Given the description of an element on the screen output the (x, y) to click on. 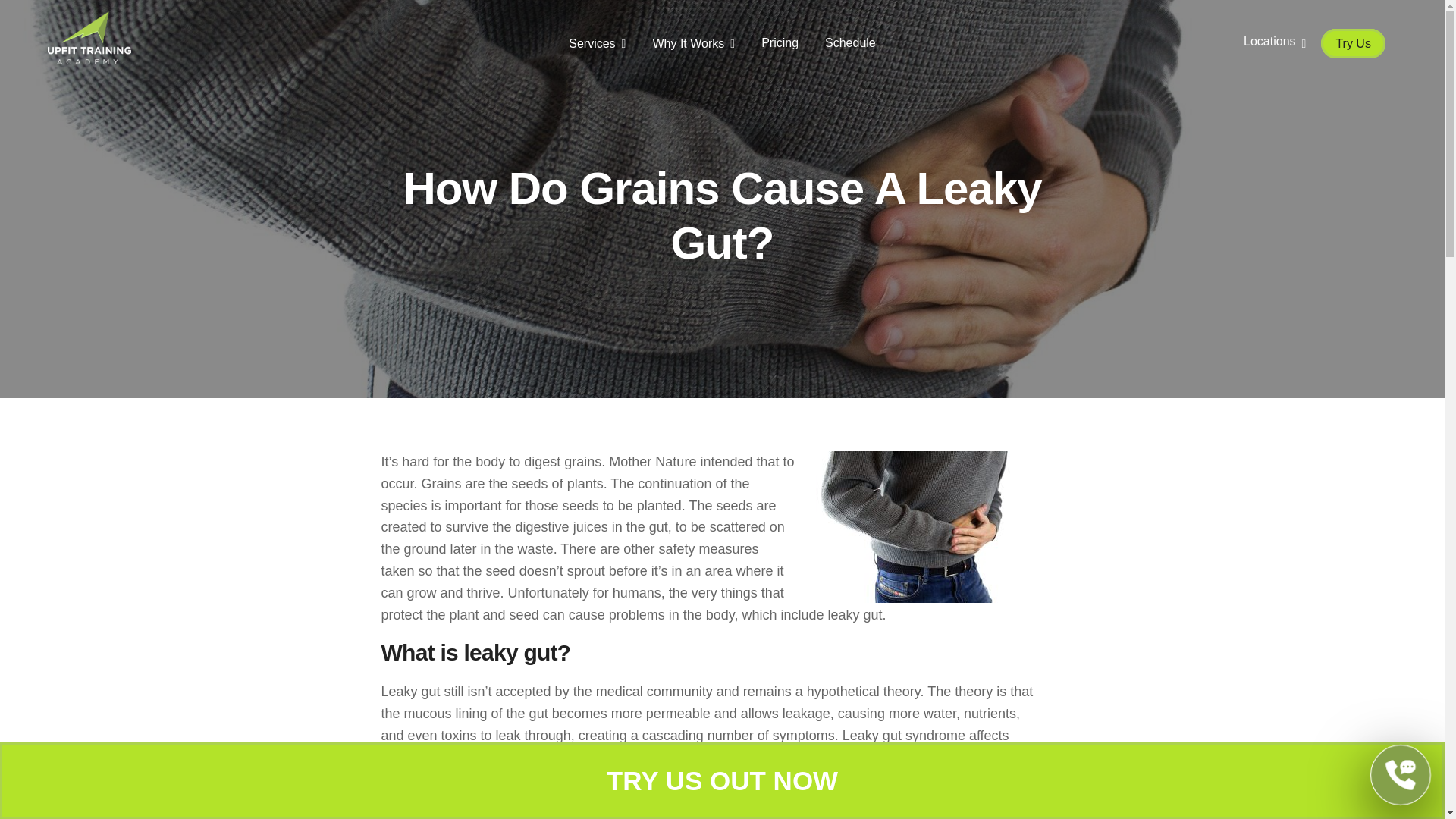
Locations (1274, 42)
Why It Works (693, 43)
Pricing (779, 42)
Schedule (850, 42)
Services (597, 43)
Try Us (1353, 43)
